Given the description of an element on the screen output the (x, y) to click on. 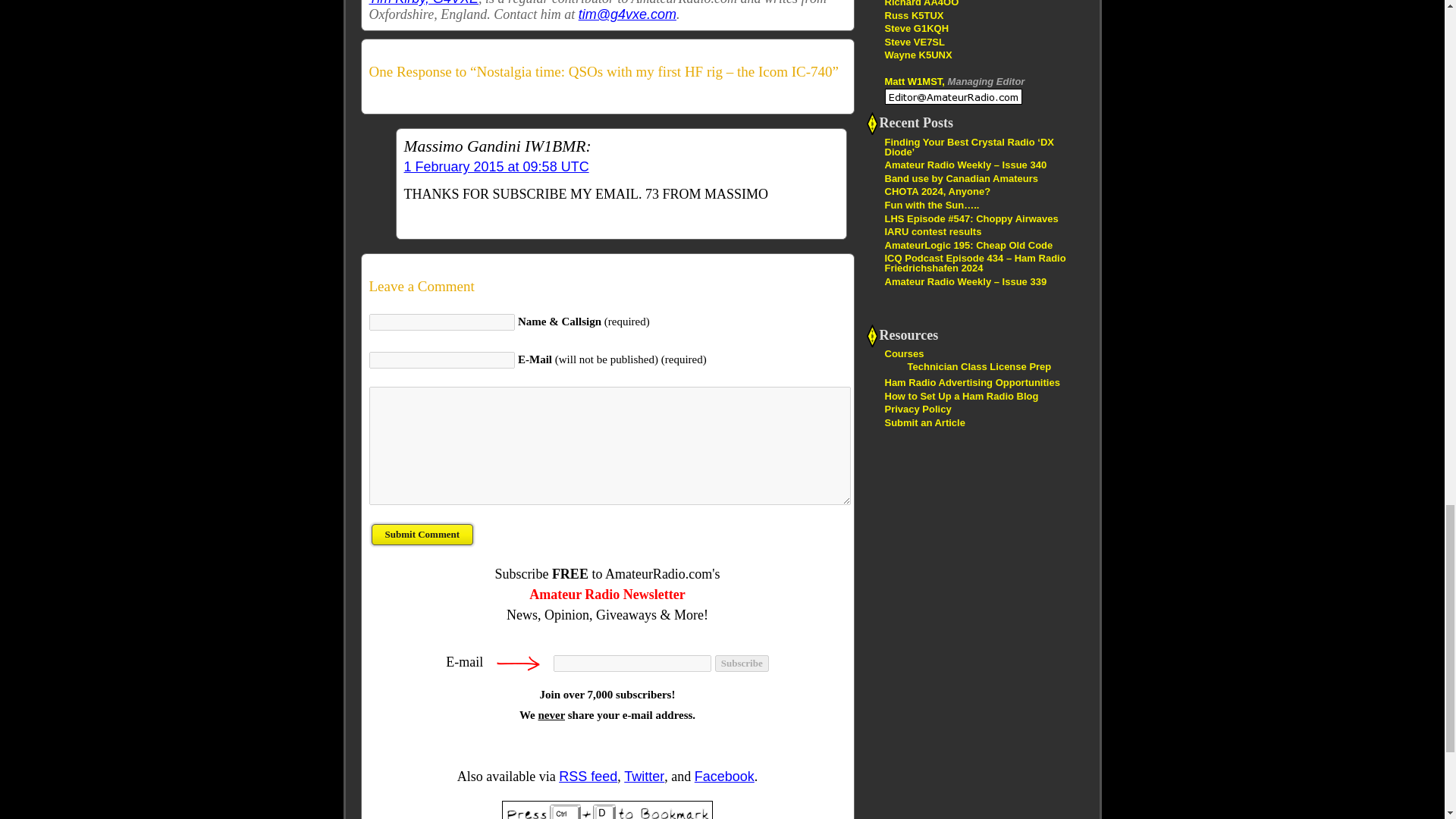
Tim Kirby, G4VXE (423, 2)
Submit Comment (422, 534)
Lower your Power  Raise your Expectations (920, 3)
1 February 2015 at 09:58 UTC (495, 166)
Twitter (643, 776)
RSS feed (588, 776)
Homebrewing and Operating Adventures From 2200m To Nanowaves (913, 41)
Subscribe (741, 663)
Leave a Comment (606, 286)
Submit Comment (422, 534)
Facebook (724, 776)
Linux in the Ham Shack Podcast in MP3 Format (913, 14)
Subscribe (741, 663)
